Given the description of an element on the screen output the (x, y) to click on. 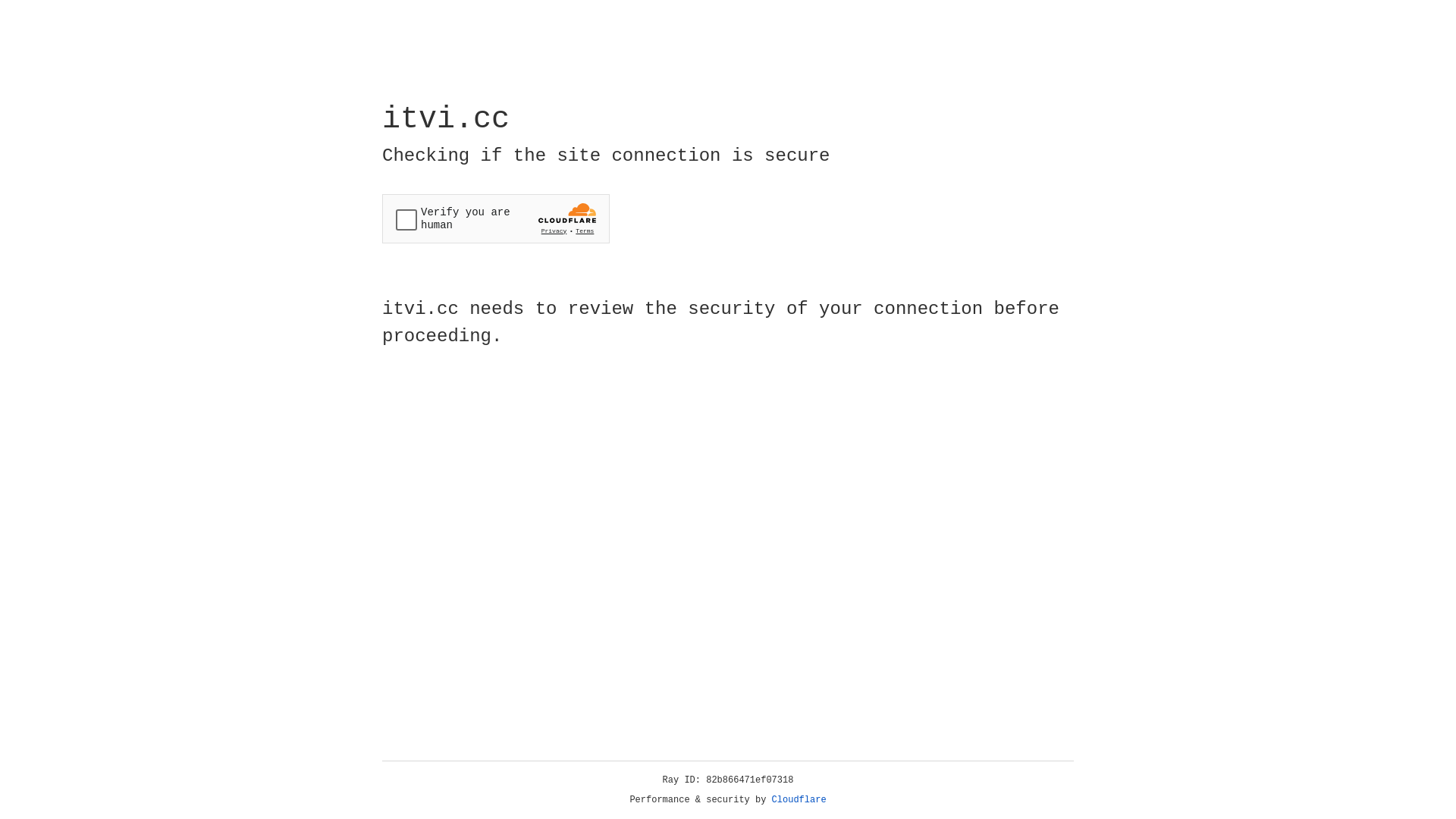
Cloudflare Element type: text (798, 799)
Widget containing a Cloudflare security challenge Element type: hover (495, 218)
